Given the description of an element on the screen output the (x, y) to click on. 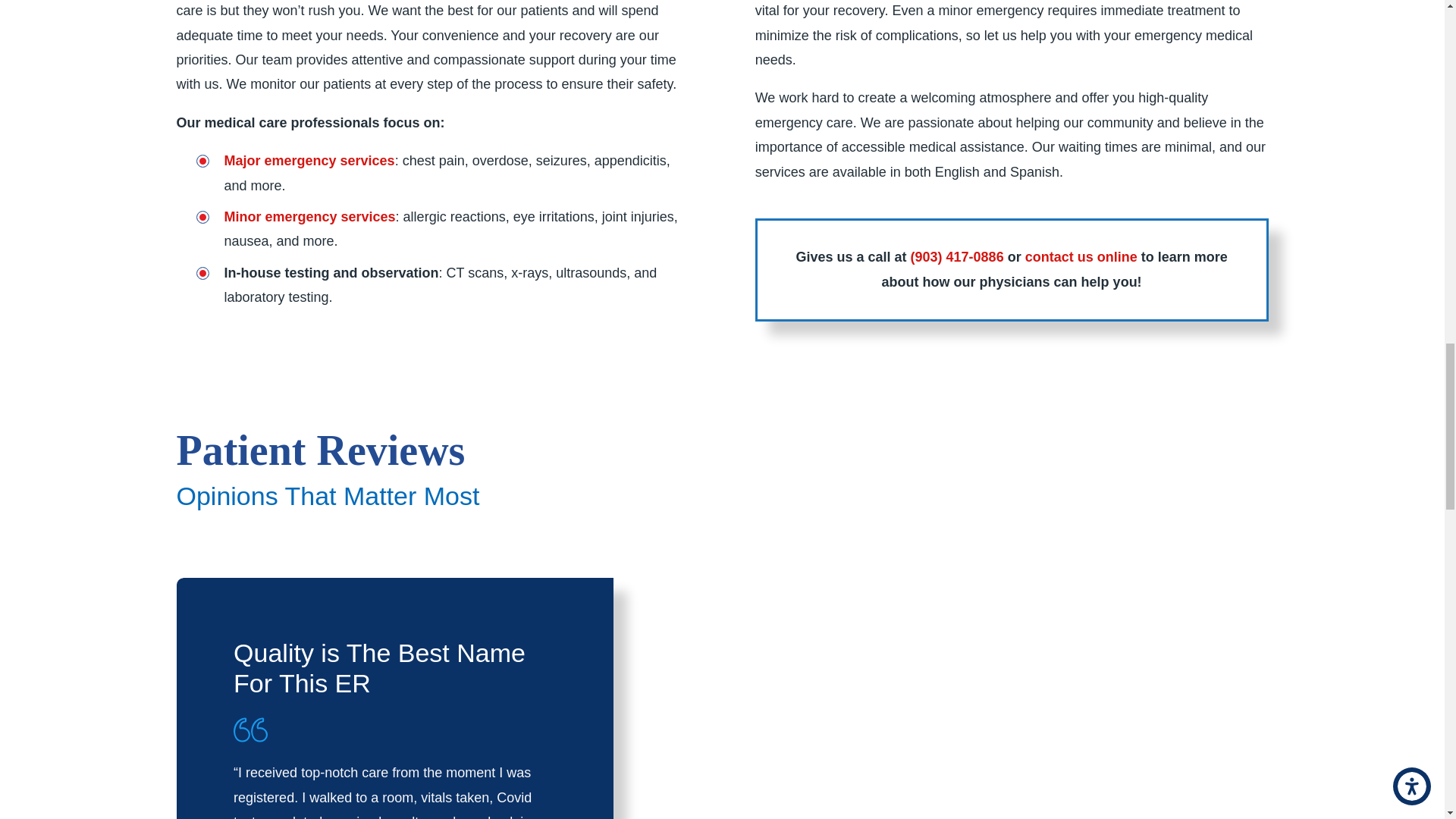
Quote Icon (249, 729)
